Given the description of an element on the screen output the (x, y) to click on. 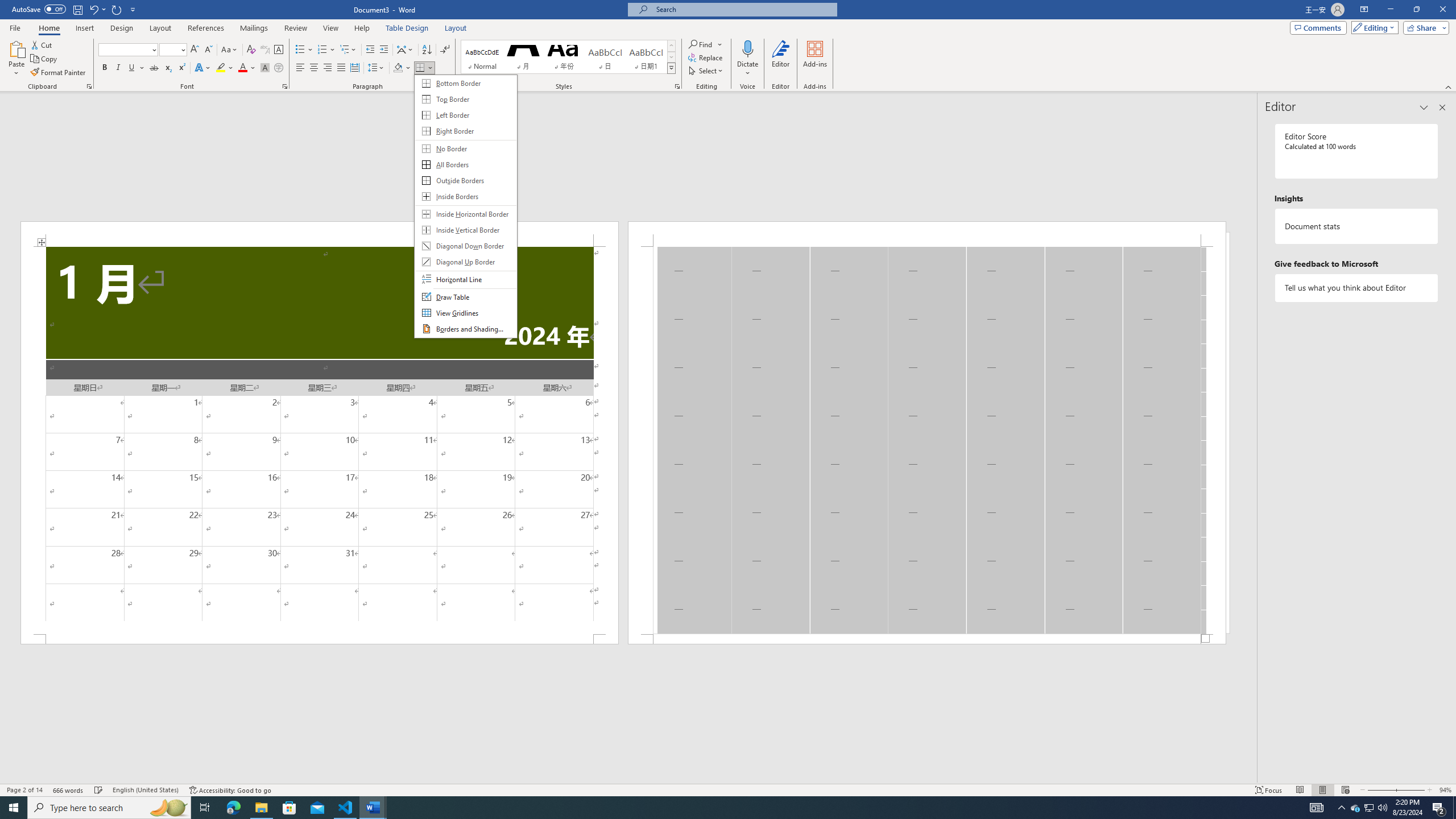
Tell us what you think about Editor (1356, 288)
Page 2 content (926, 439)
